Given the description of an element on the screen output the (x, y) to click on. 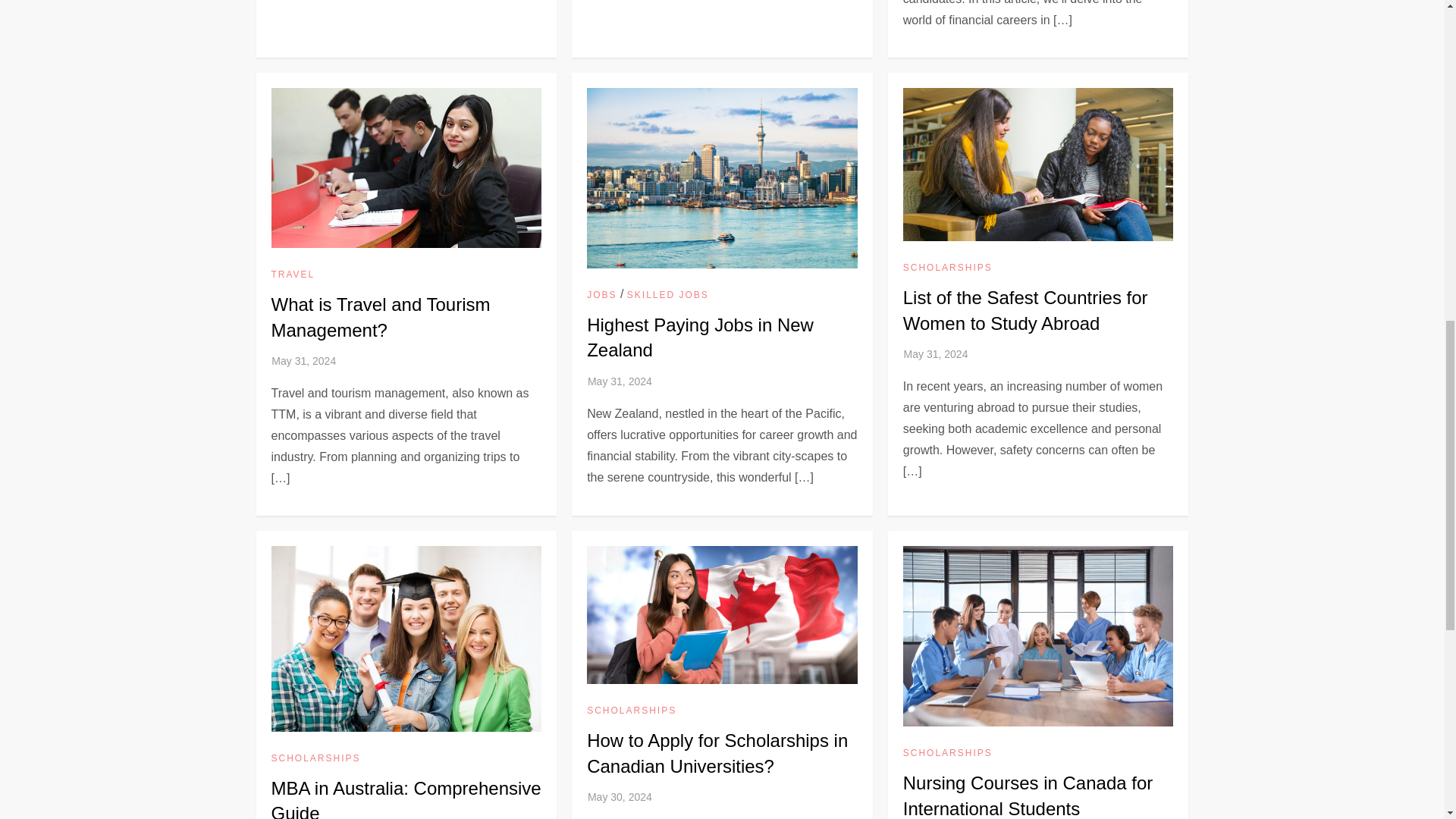
SCHOLARSHIPS (947, 268)
What is Travel and Tourism Management? (380, 317)
Highest Paying Jobs in New Zealand (699, 336)
JOBS (600, 295)
TRAVEL (292, 275)
May 31, 2024 (936, 354)
SKILLED JOBS (668, 295)
List of the Safest Countries for Women to Study Abroad (1025, 310)
SCHOLARSHIPS (315, 758)
May 31, 2024 (303, 360)
May 31, 2024 (620, 381)
